Given the description of an element on the screen output the (x, y) to click on. 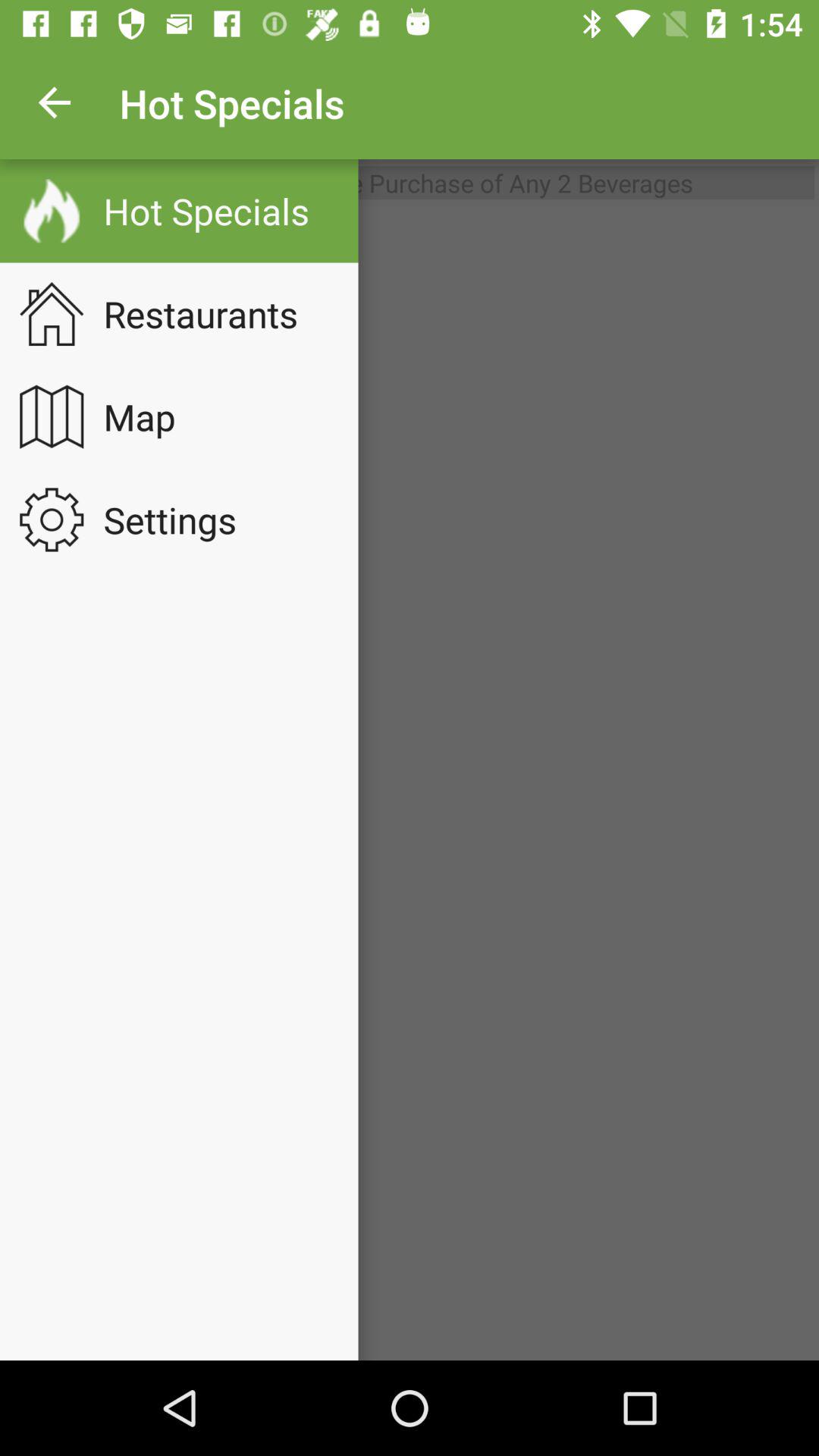
press app to the left of hot specials app (55, 103)
